Given the description of an element on the screen output the (x, y) to click on. 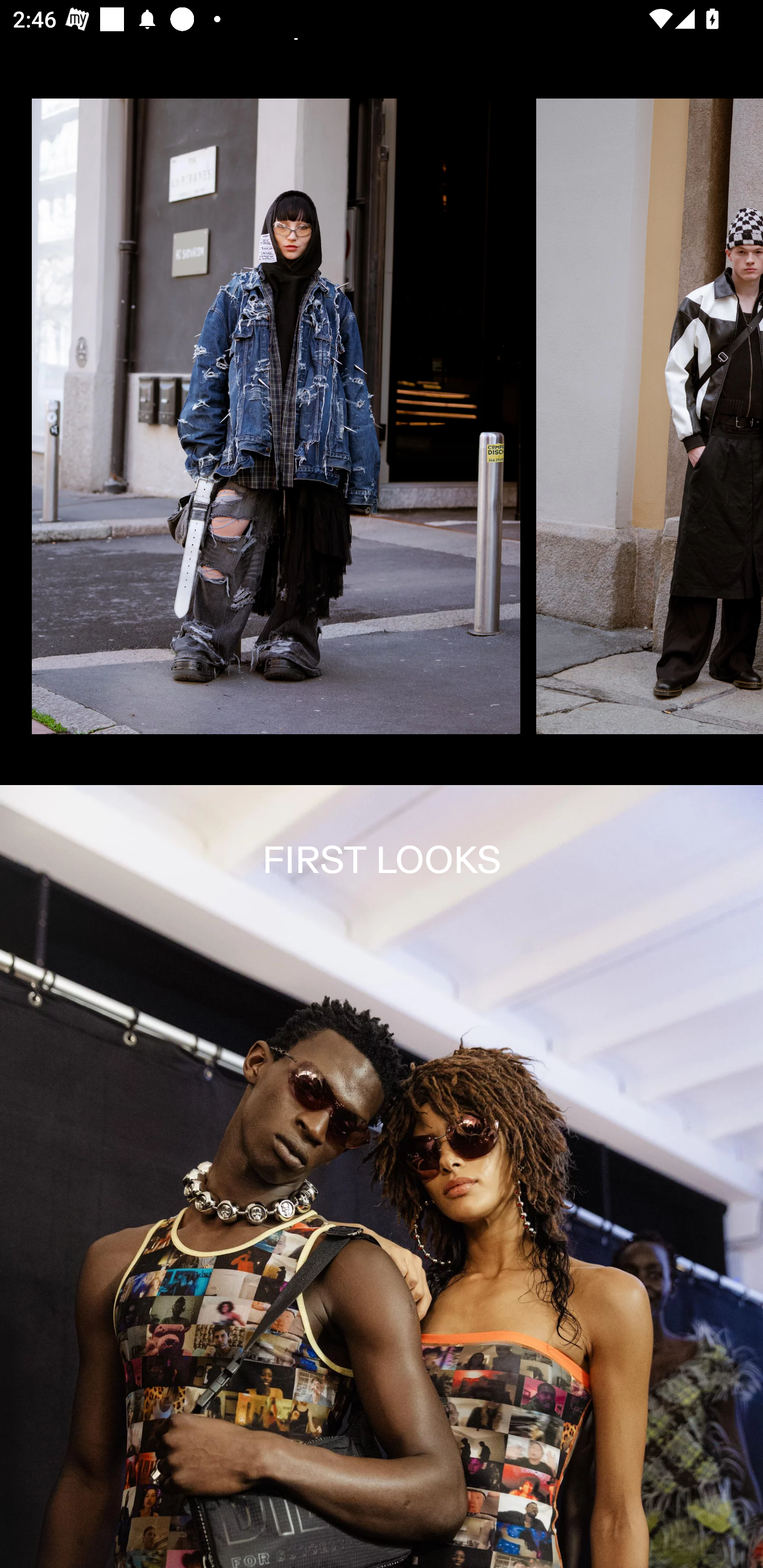
FIRST LOOKS DIESEL FALL '24 (381, 1176)
